Given the description of an element on the screen output the (x, y) to click on. 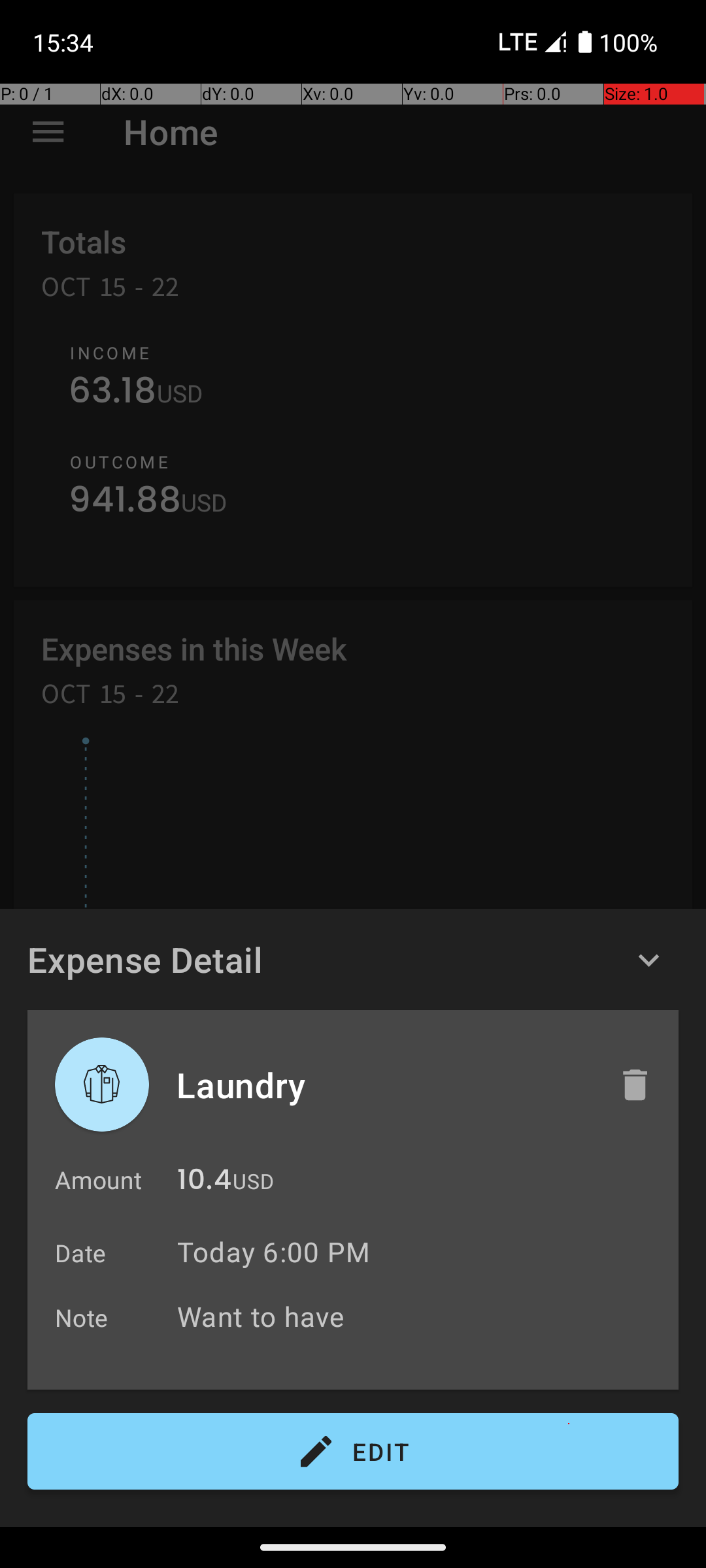
10.4 Element type: android.widget.TextView (204, 1182)
